Given the description of an element on the screen output the (x, y) to click on. 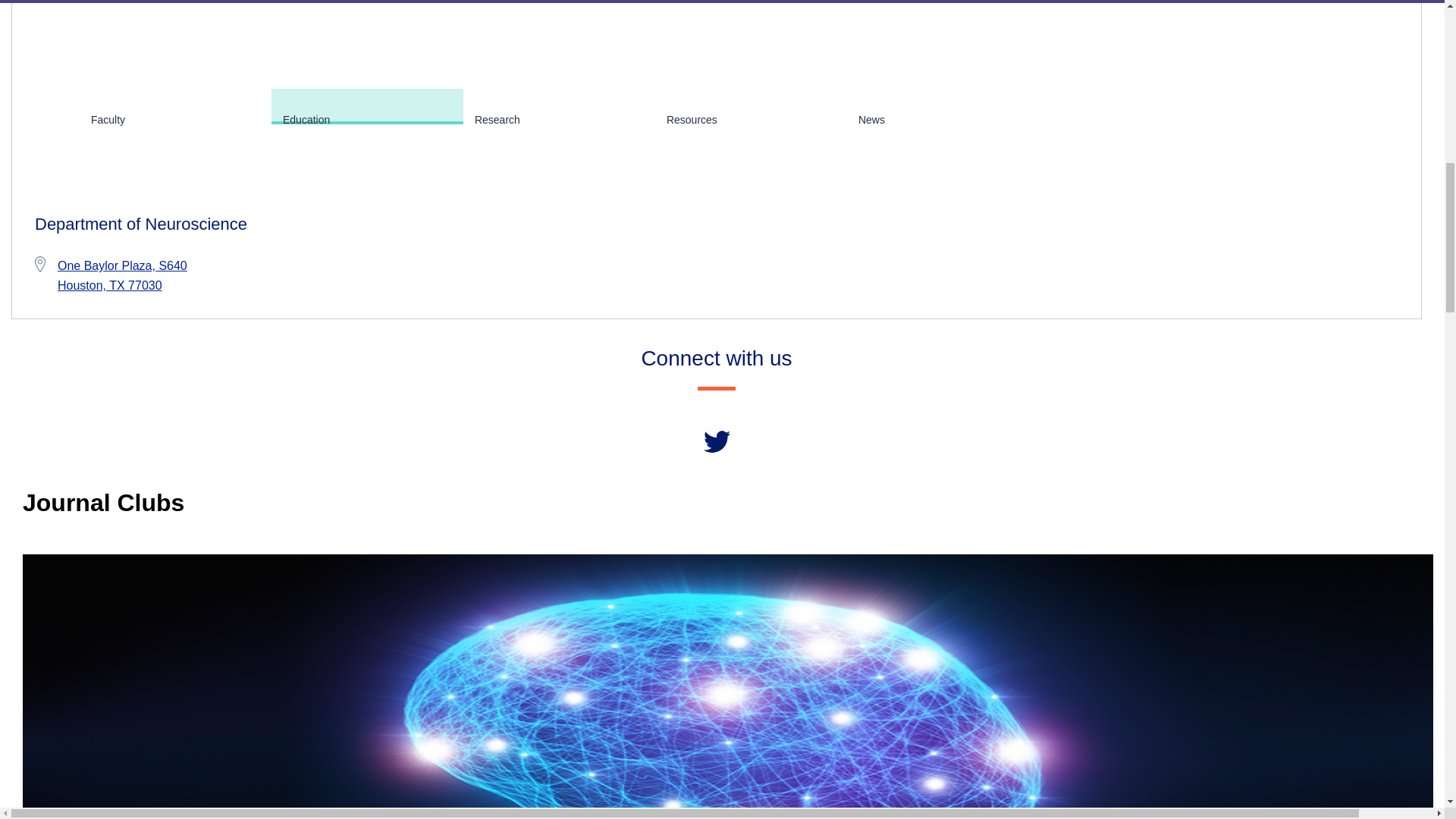
twitter (716, 441)
